Given the description of an element on the screen output the (x, y) to click on. 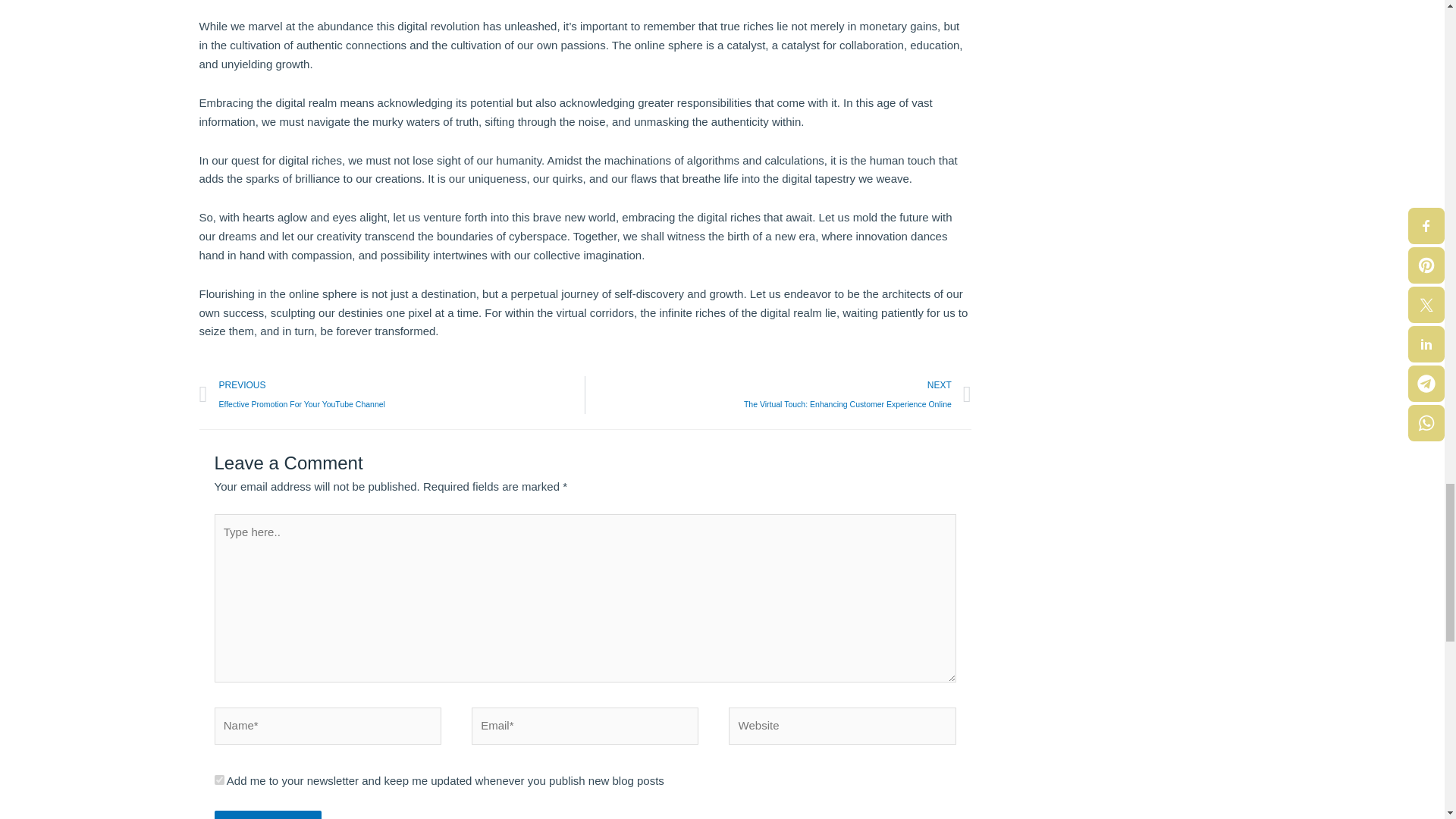
1 (391, 394)
